Given the description of an element on the screen output the (x, y) to click on. 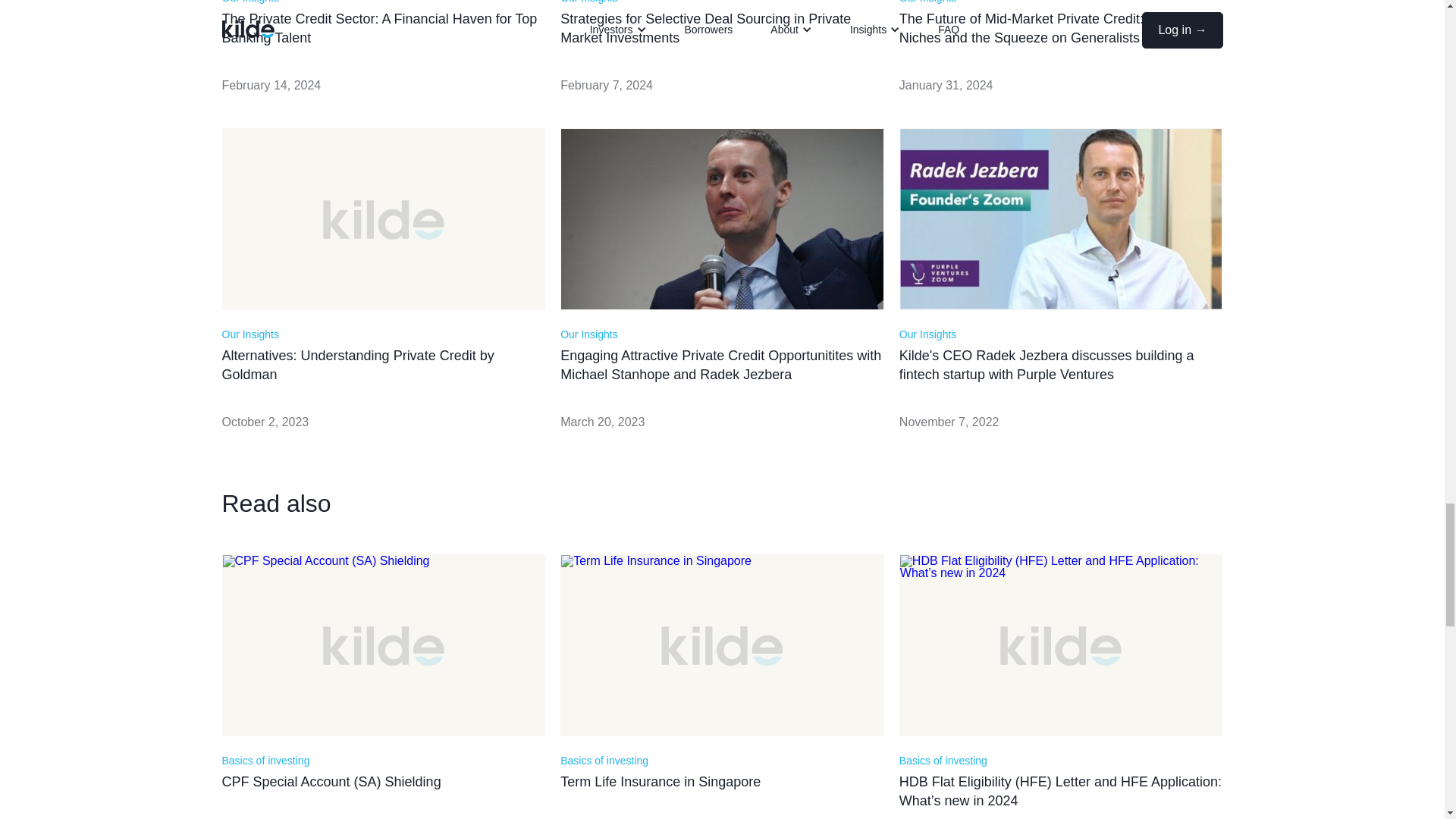
Alternatives: Understanding Private Credit by Goldman (382, 365)
